Given the description of an element on the screen output the (x, y) to click on. 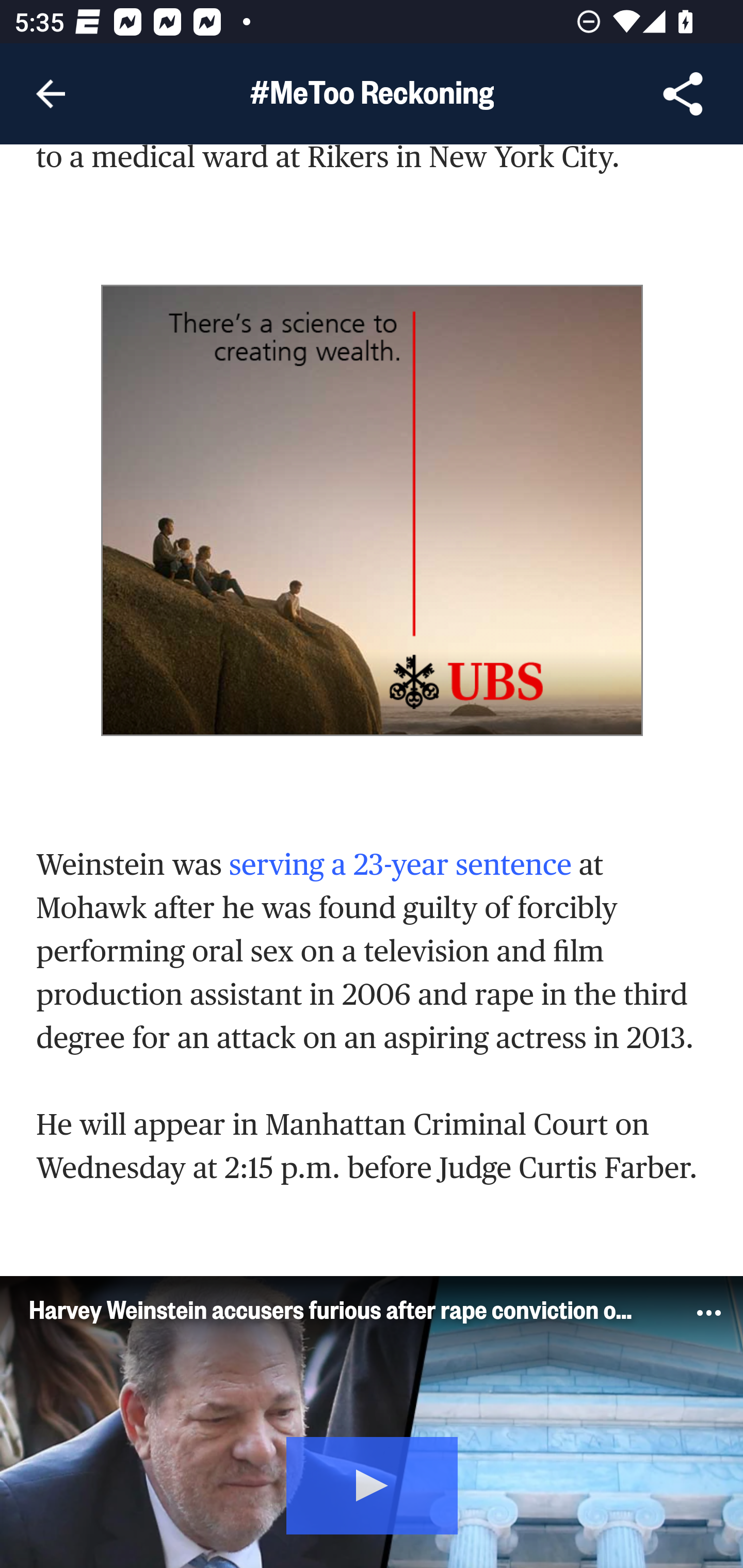
Navigate up (50, 93)
Share Article, button (683, 94)
serving a 23-year sentence (399, 864)
Video Player Unable to play media. Play (371, 1422)
Play (372, 1483)
